Given the description of an element on the screen output the (x, y) to click on. 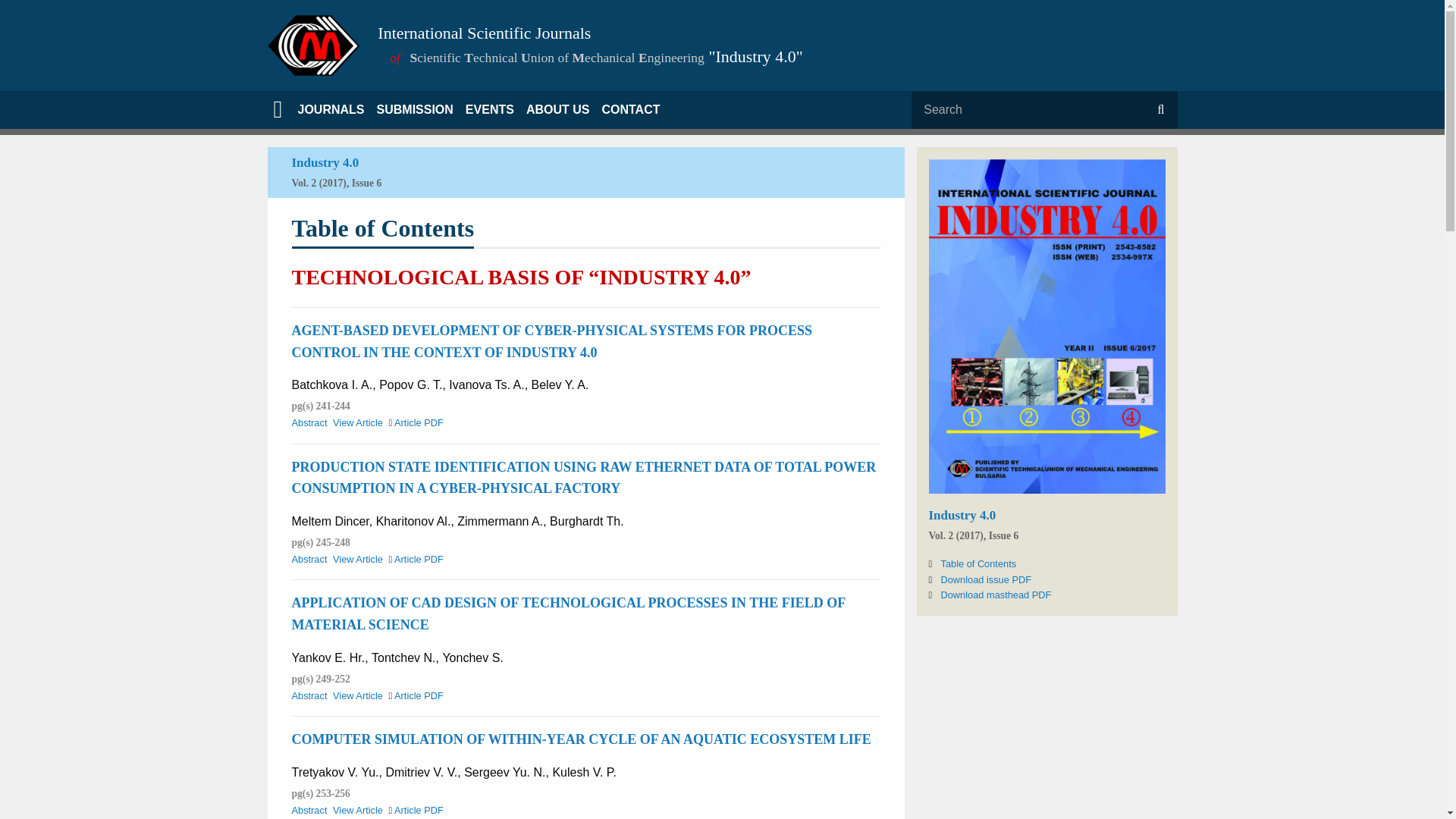
CONTACT (630, 109)
Belev Y. A. (560, 384)
Dmitriev V. V. (421, 771)
View Article (357, 422)
SUBMISSION (415, 109)
Meltem Dincer (329, 521)
ABOUT US (557, 109)
Abstract (308, 695)
Burghardt Th. (587, 521)
